Given the description of an element on the screen output the (x, y) to click on. 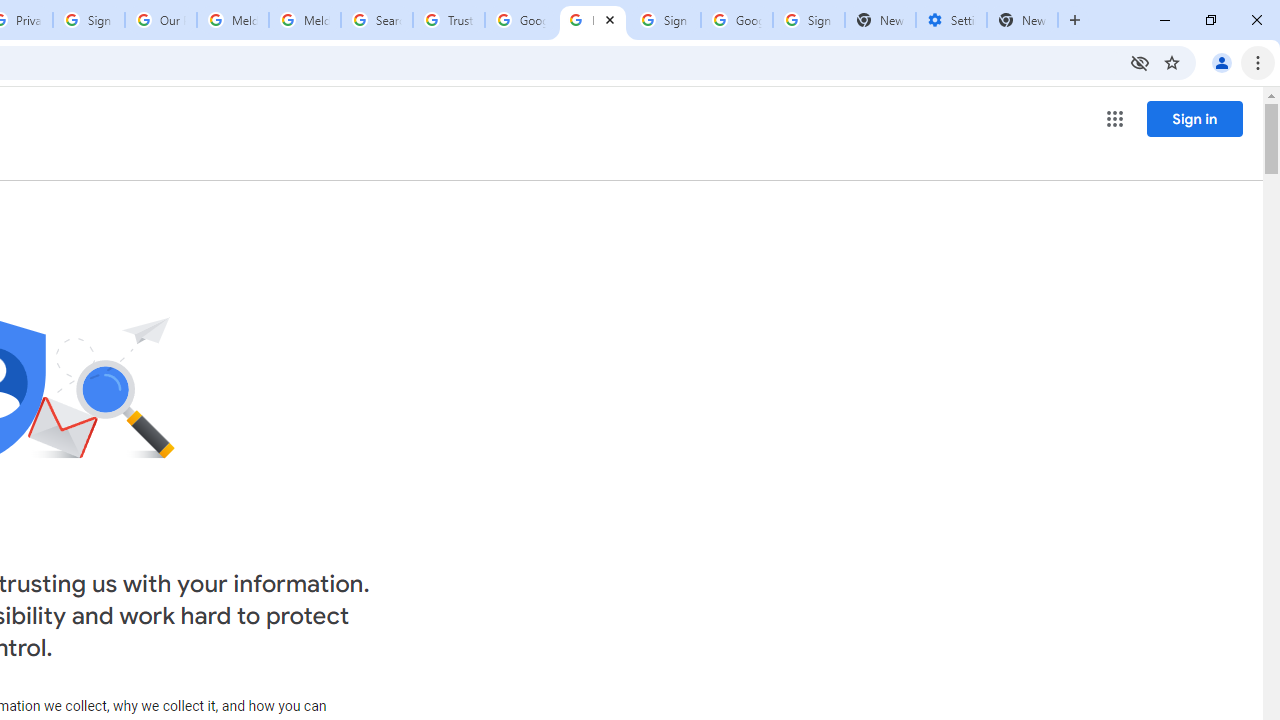
Sign in - Google Accounts (808, 20)
Google Ads - Sign in (520, 20)
Settings - Addresses and more (951, 20)
Sign in - Google Accounts (88, 20)
Sign in - Google Accounts (664, 20)
